Given the description of an element on the screen output the (x, y) to click on. 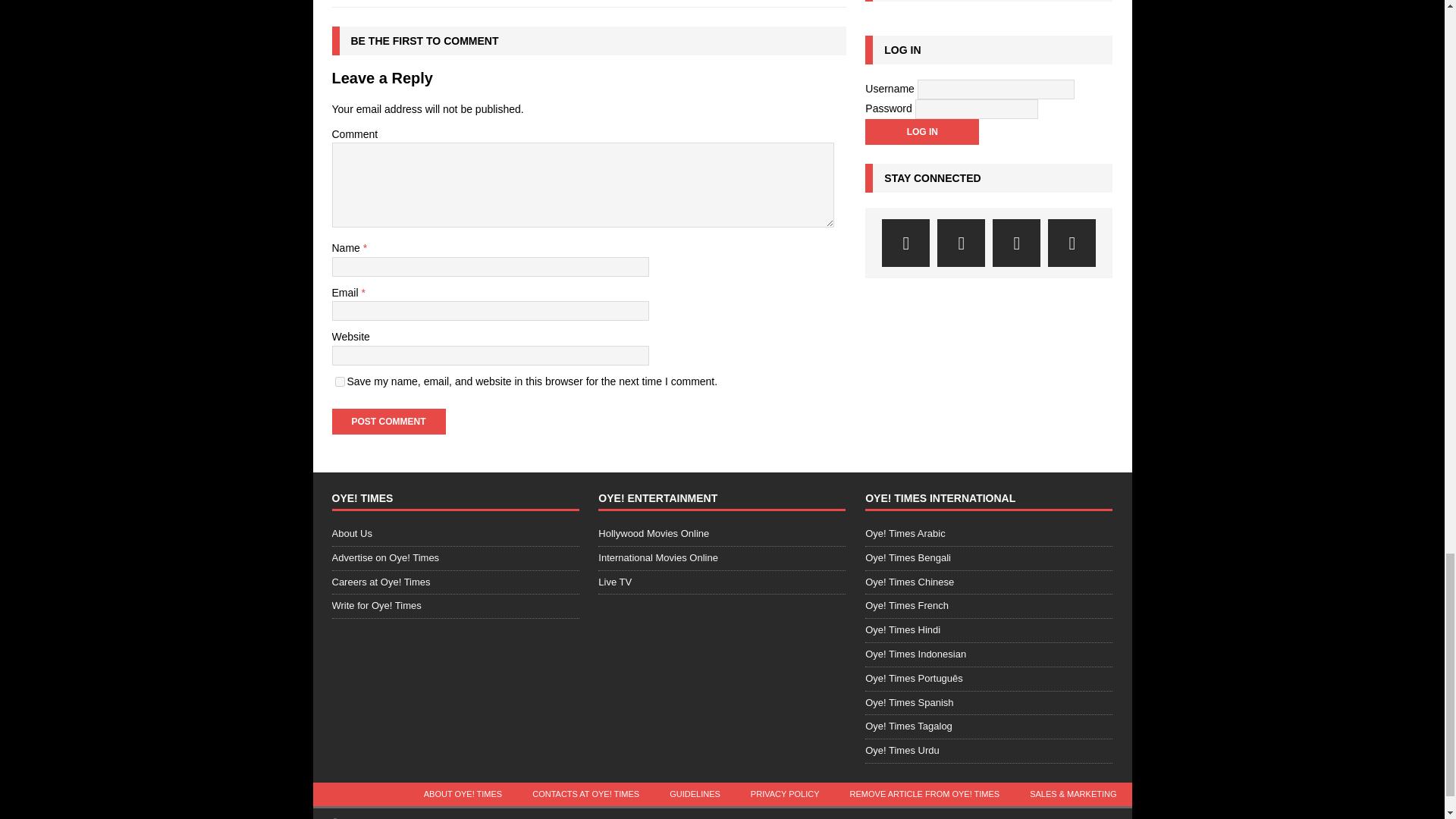
yes (339, 381)
Log In (921, 131)
Post Comment (388, 421)
